Given the description of an element on the screen output the (x, y) to click on. 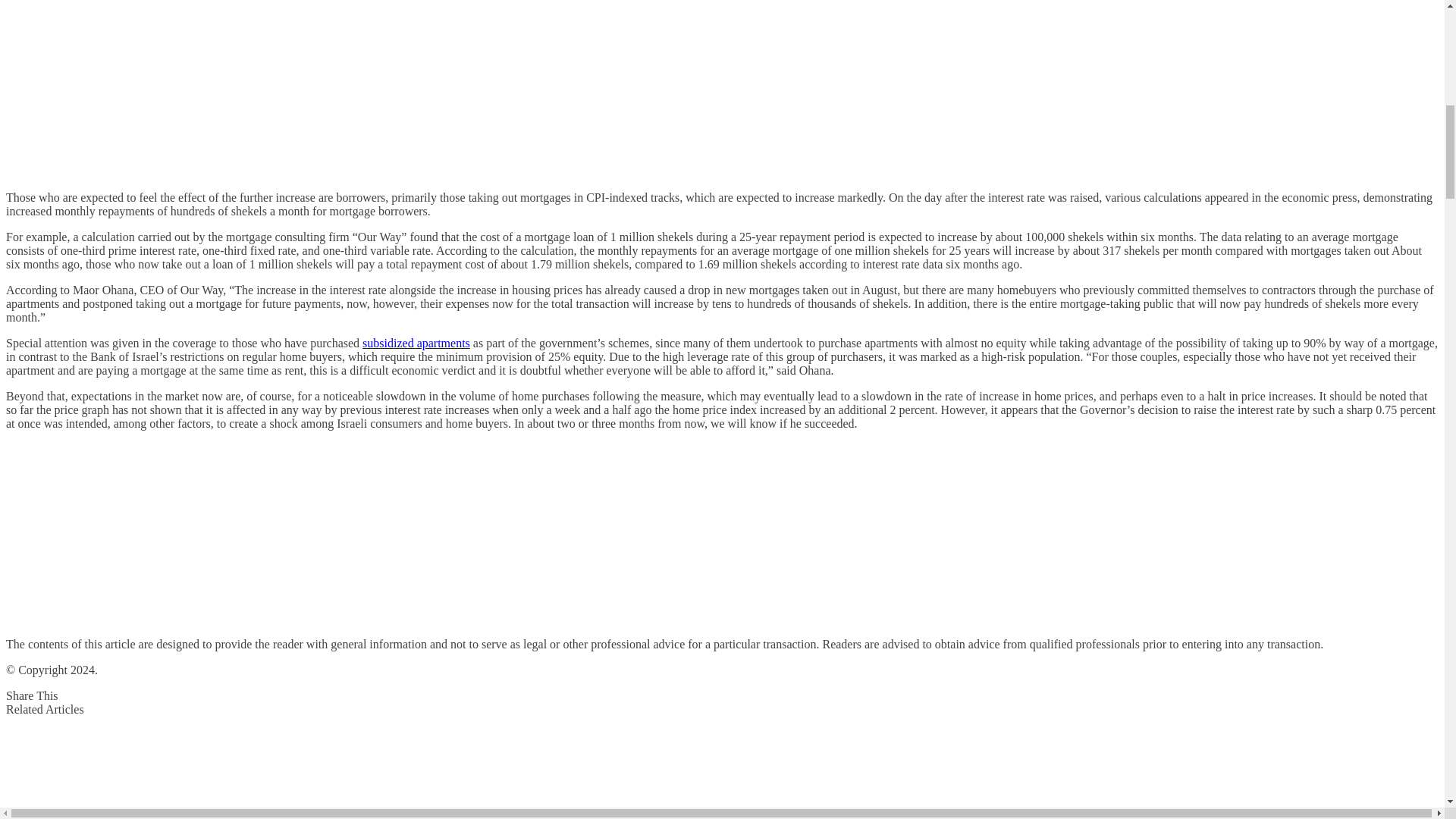
subsidized apartments (416, 342)
